Given the description of an element on the screen output the (x, y) to click on. 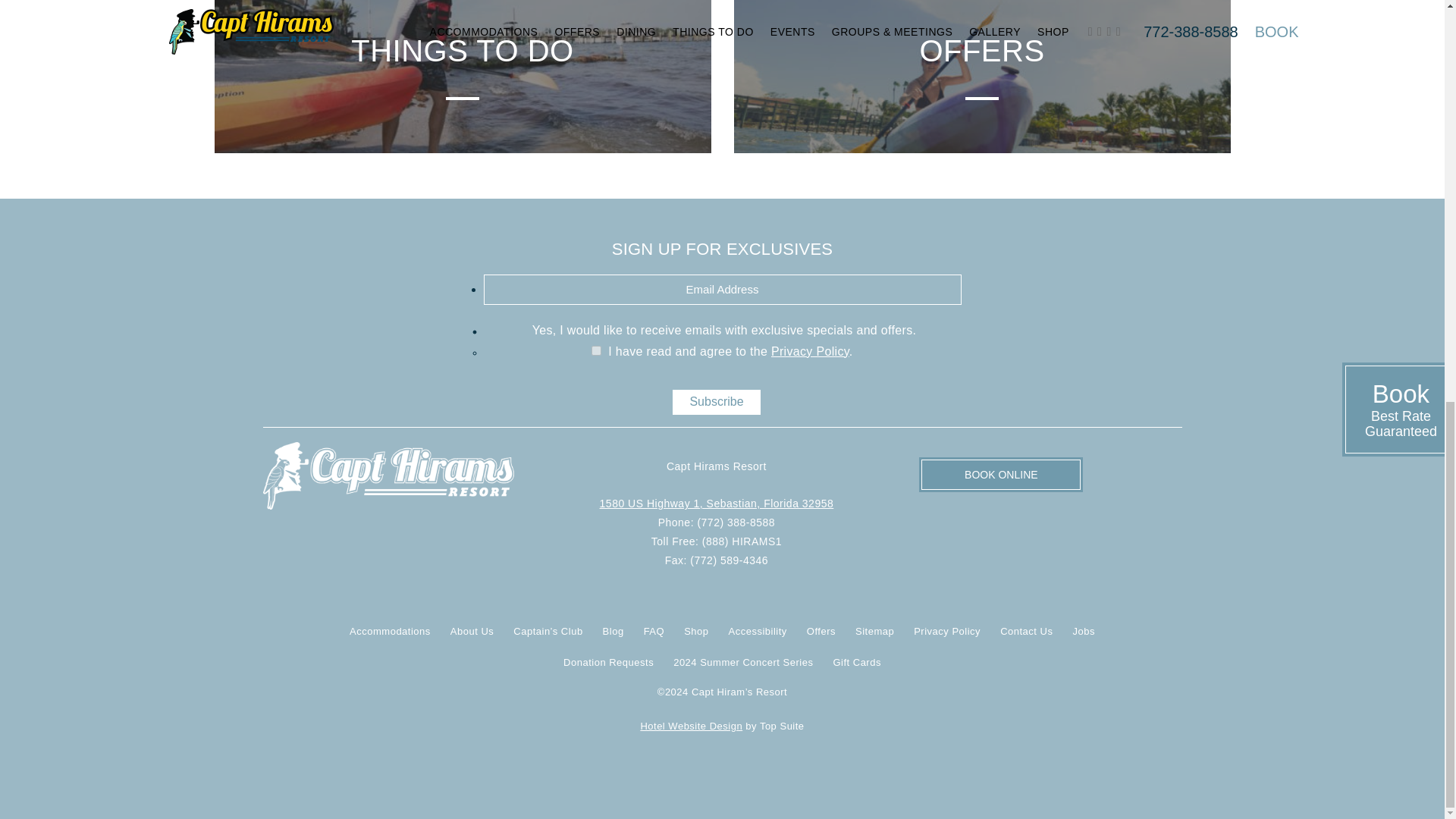
Privacy Policy (809, 350)
Subscribe (716, 401)
Accommodations (389, 631)
Subscribe (716, 401)
About Us (471, 631)
BOOK ONLINE (1000, 474)
1580 US Highway 1, Sebastian, Florida 32958 (716, 503)
OFFERS (981, 76)
THINGS TO DO (462, 76)
Blog (613, 631)
